Given the description of an element on the screen output the (x, y) to click on. 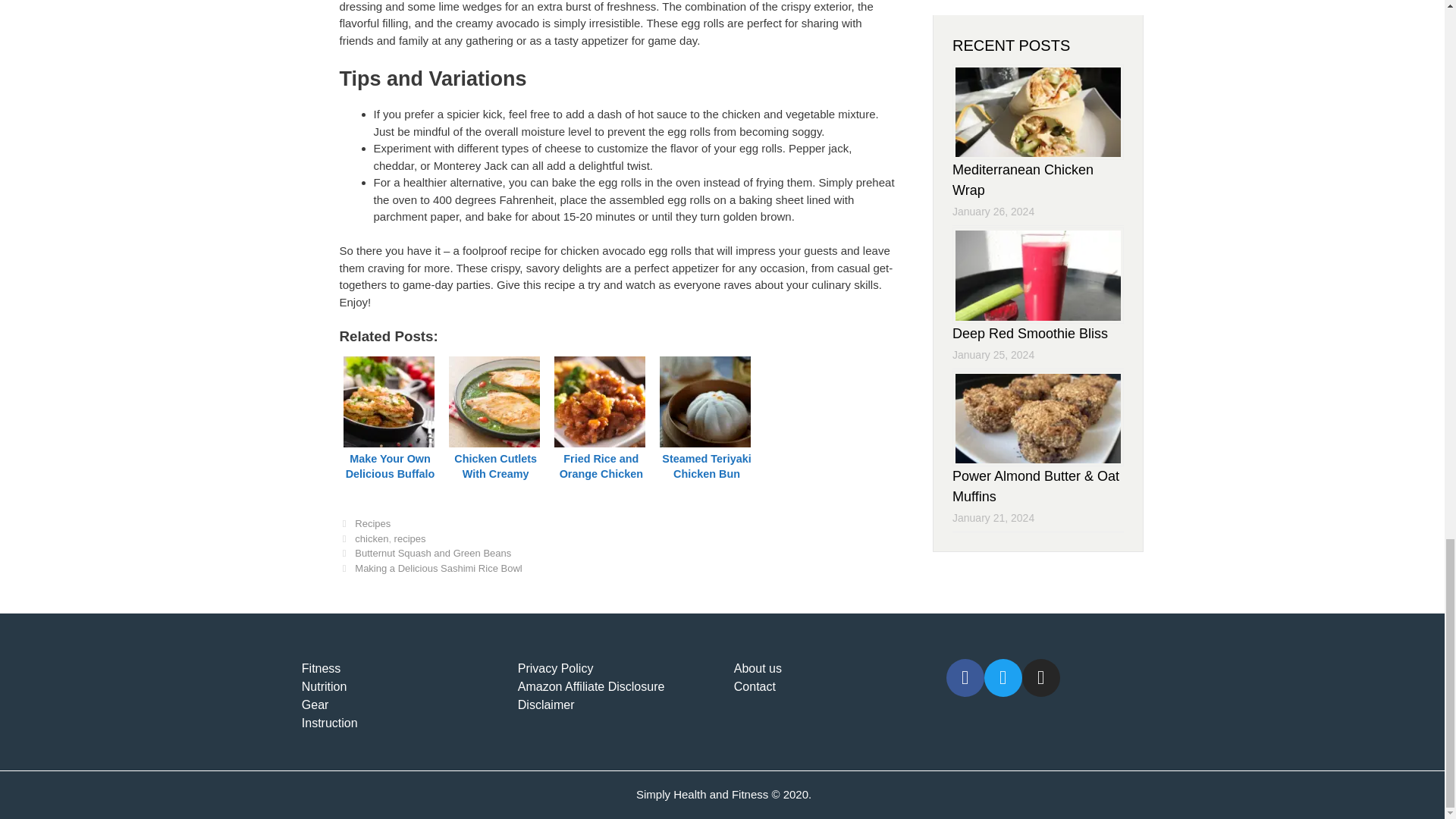
Privacy Policy (616, 669)
Nutrition (400, 687)
Butternut Squash and Green Beans (433, 552)
chicken (371, 538)
Disclaimer (616, 705)
recipes (410, 538)
Making a Delicious Sashimi Rice Bowl (438, 568)
Fitness (400, 669)
Instruction (400, 723)
Recipes (372, 523)
Amazon Affiliate Disclosure (616, 687)
Gear (400, 705)
